Given the description of an element on the screen output the (x, y) to click on. 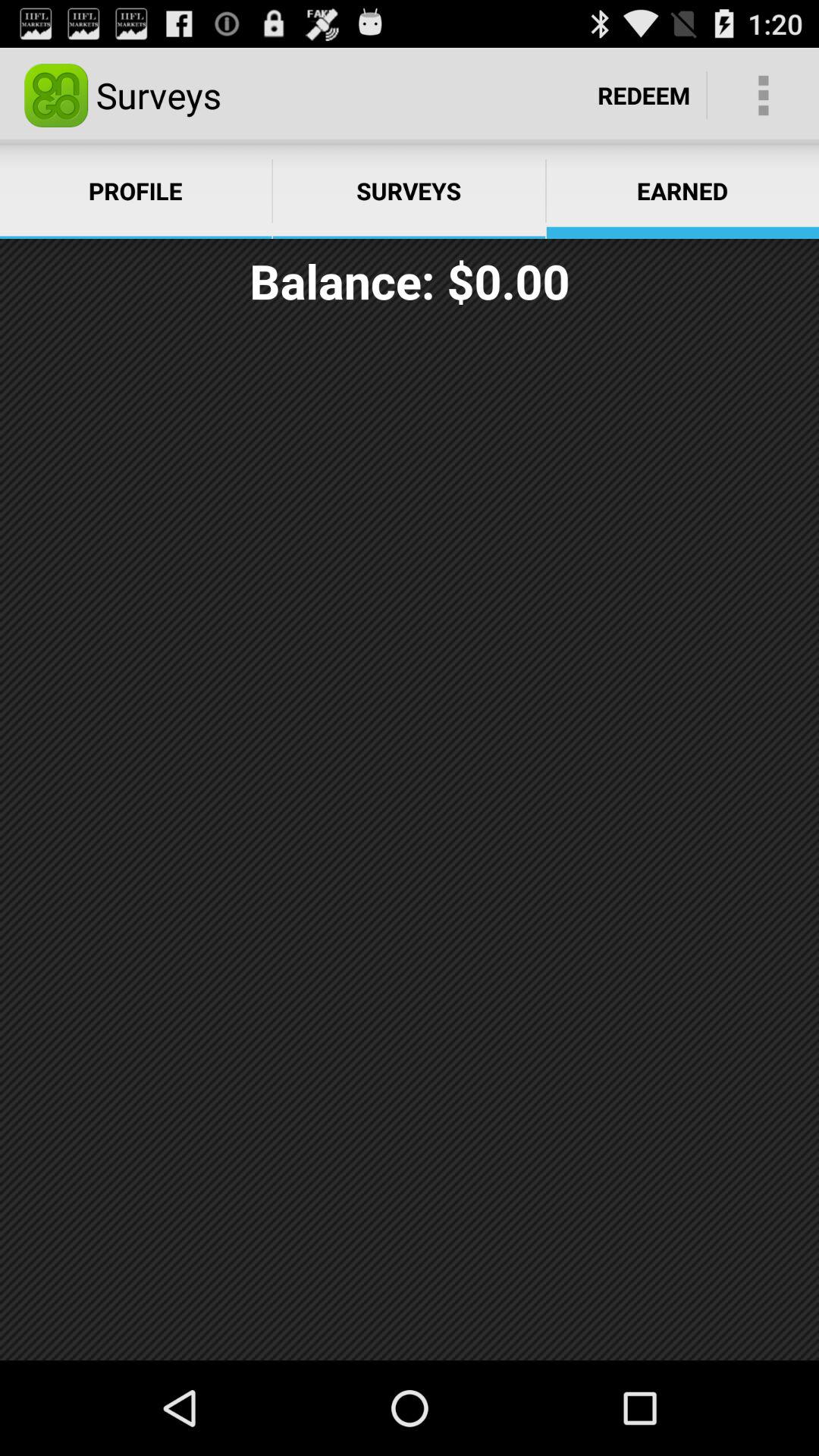
turn off the icon above earned app (643, 95)
